Given the description of an element on the screen output the (x, y) to click on. 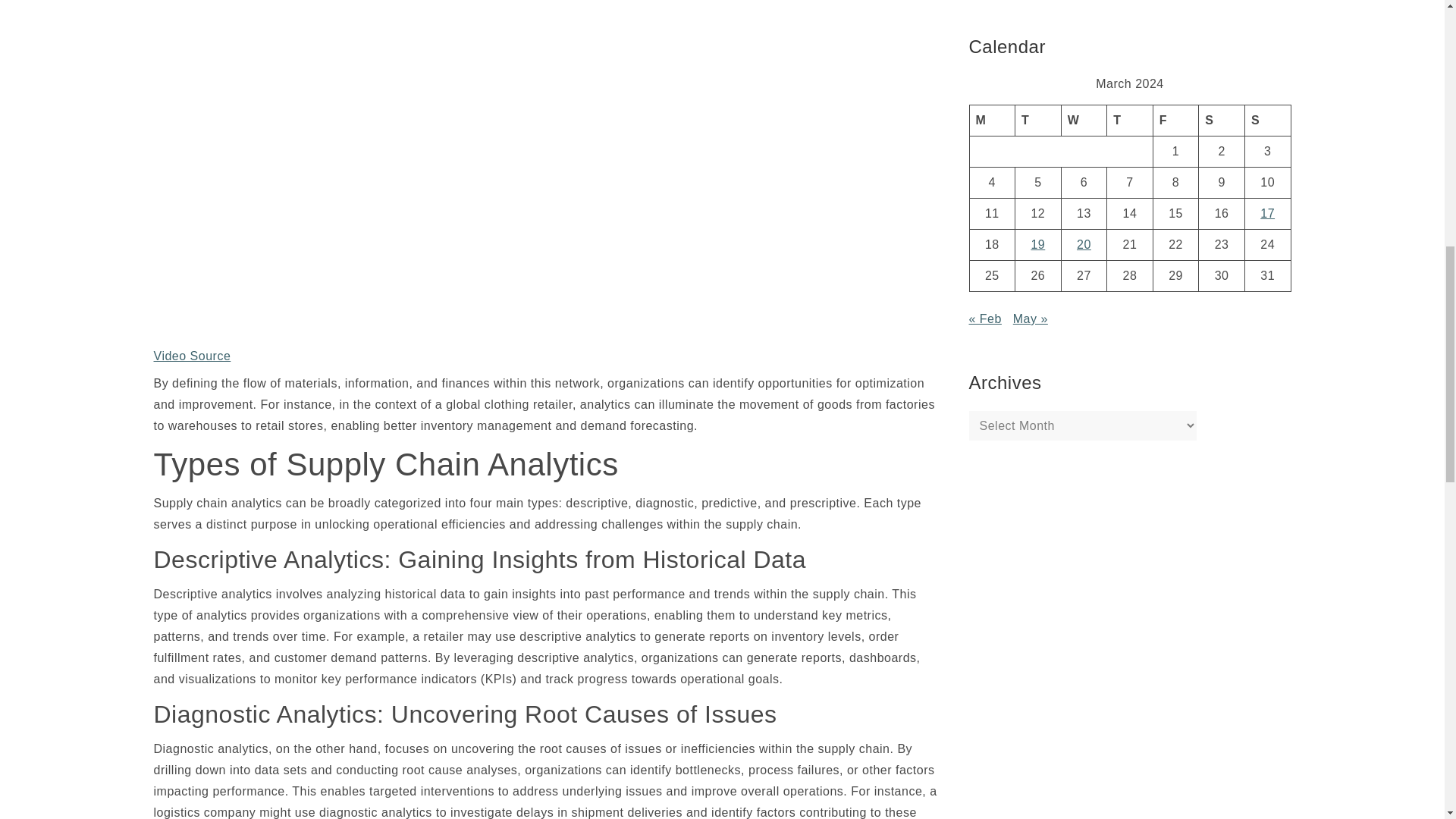
20 (1083, 244)
17 (1267, 213)
Friday (1175, 119)
Monday (991, 119)
Tuesday (1037, 119)
Video Source (191, 355)
19 (1037, 244)
Wednesday (1083, 119)
Thursday (1129, 119)
Saturday (1221, 119)
